Given the description of an element on the screen output the (x, y) to click on. 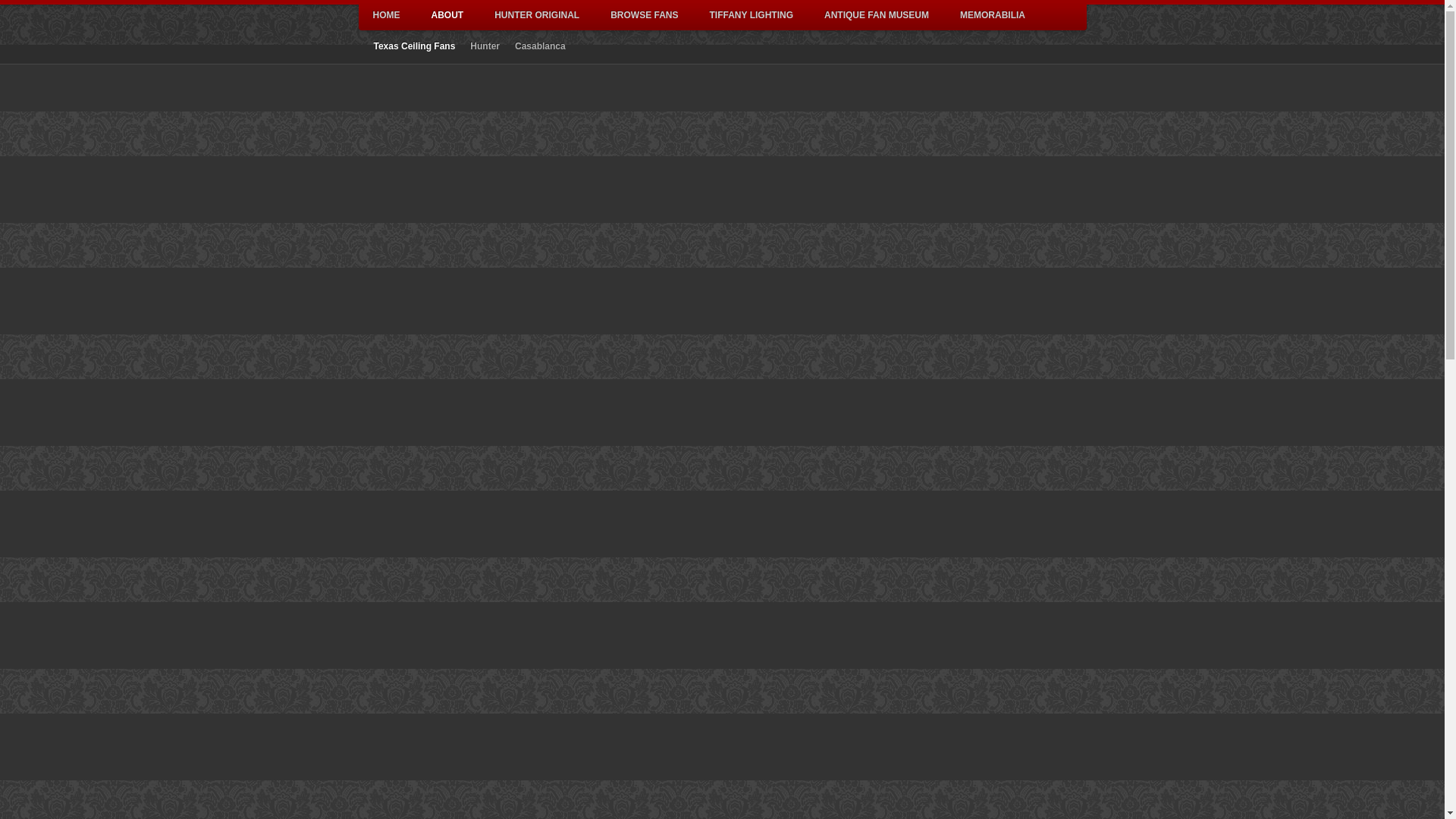
Casablanca (539, 46)
Hunter (484, 46)
HOME (386, 15)
ANTIQUE FAN MUSEUM (876, 15)
Texas Ceiling Fans (414, 46)
HUNTER ORIGINAL (536, 15)
ABOUT (446, 15)
MEMORABILIA (992, 15)
BROWSE FANS (644, 15)
TIFFANY LIGHTING (751, 15)
